Given the description of an element on the screen output the (x, y) to click on. 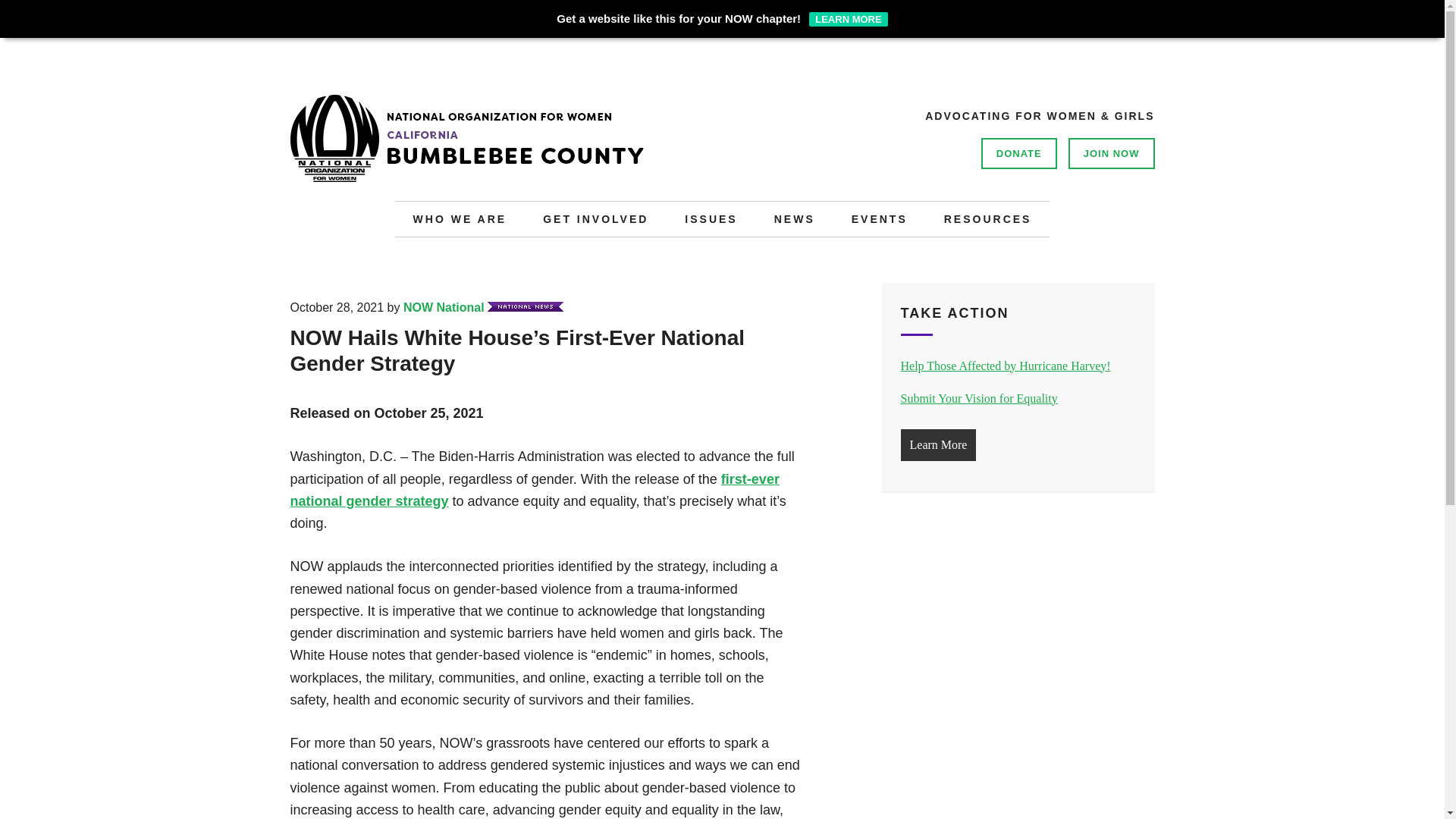
RESOURCES (987, 218)
DONATE (1019, 153)
WHO WE ARE (459, 218)
LEARN MORE (847, 19)
first-ever national gender strategy (533, 489)
GET INVOLVED (595, 218)
EVENTS (879, 218)
Posts by NOW National (443, 307)
Learn More (938, 445)
JOIN NOW (1111, 153)
Help Those Affected by Hurricane Harvey! (1005, 365)
ISSUES (710, 218)
NEWS (793, 218)
NOW National (443, 307)
Submit Your Vision for Equality (979, 398)
